Given the description of an element on the screen output the (x, y) to click on. 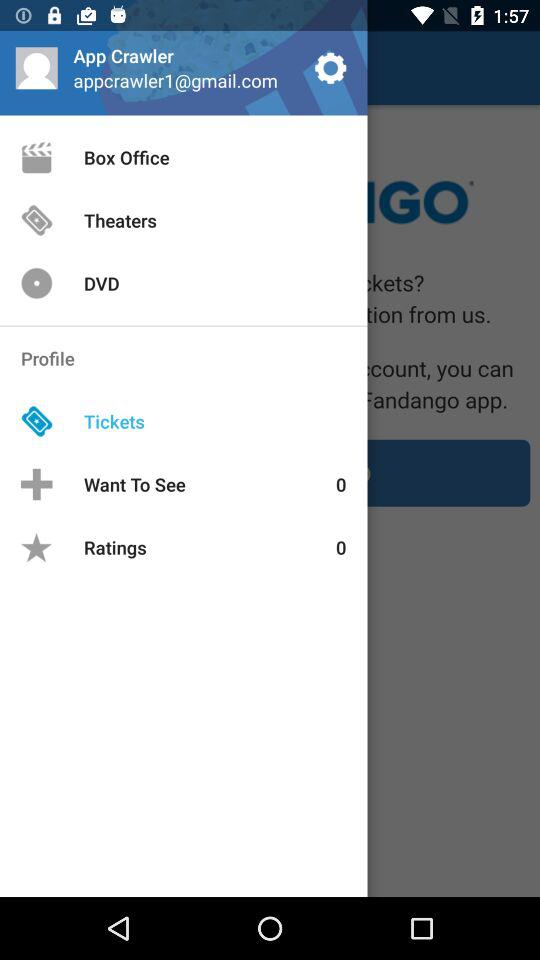
click on the profile which is on the top left side (36, 68)
